Given the description of an element on the screen output the (x, y) to click on. 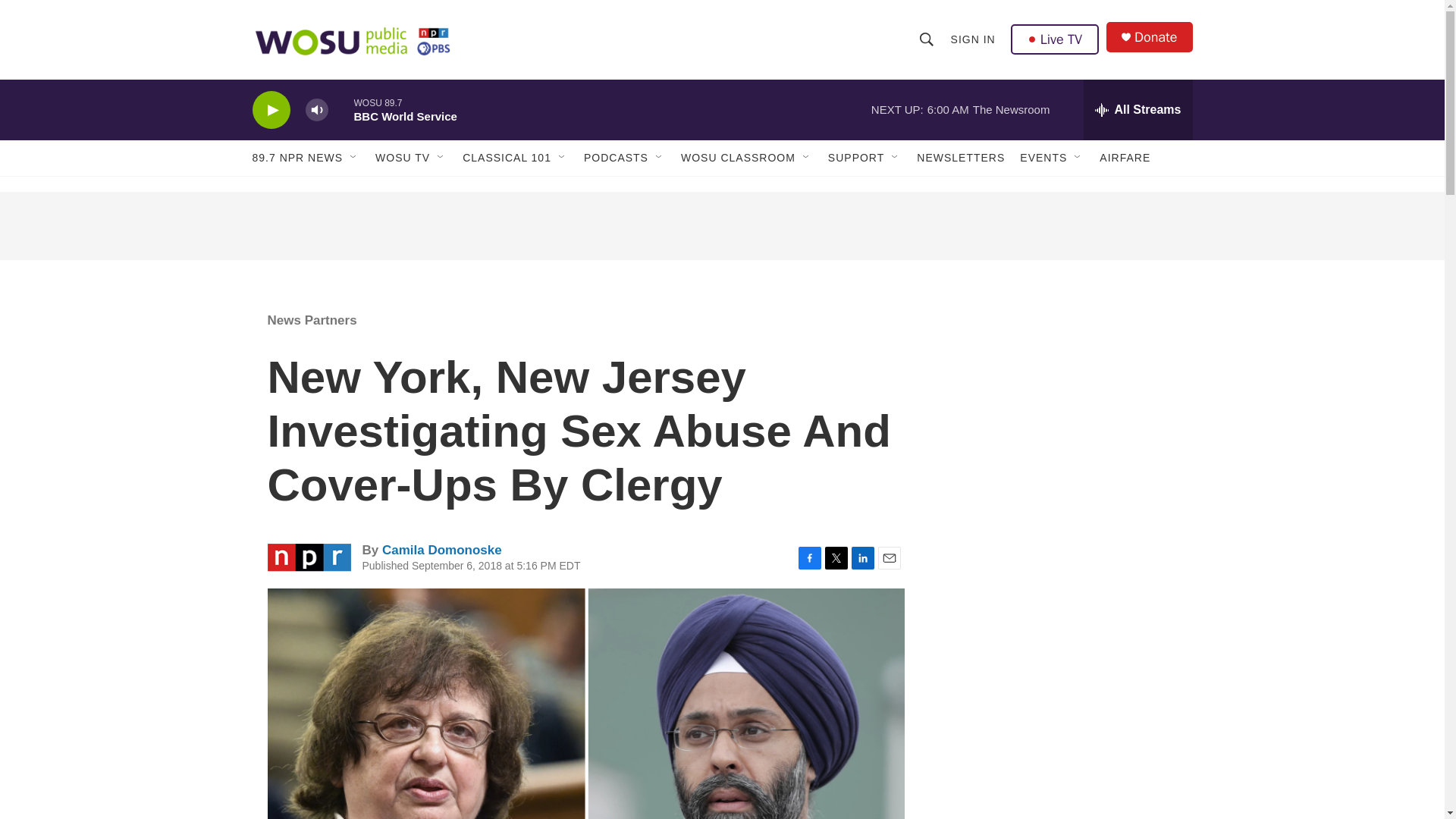
3rd party ad content (1062, 619)
3rd party ad content (721, 225)
3rd party ad content (1062, 400)
